Given the description of an element on the screen output the (x, y) to click on. 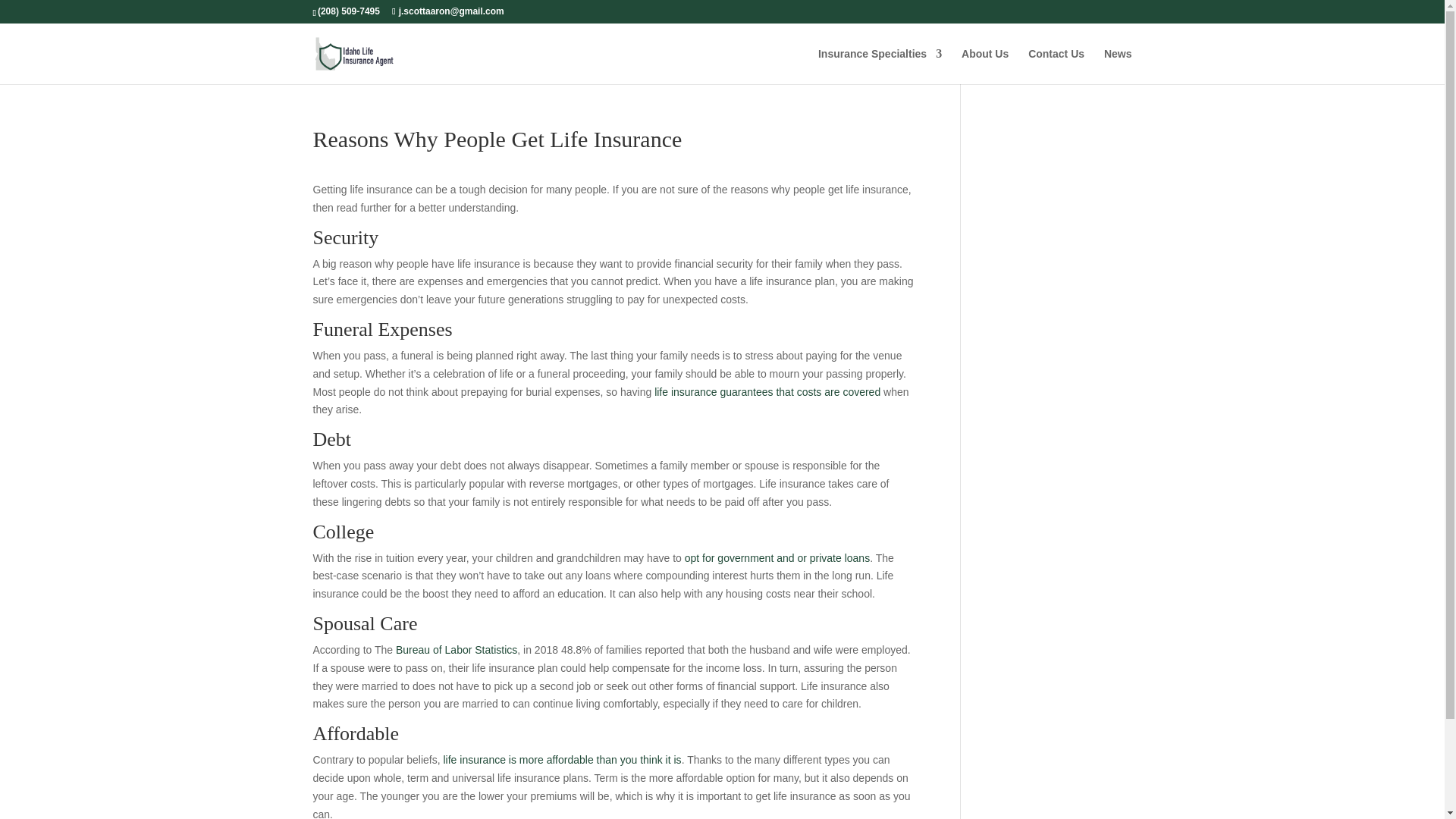
life insurance is more affordable than you think it is (561, 759)
About Us (984, 66)
life insurance guarantees that costs are covered (766, 391)
Insurance Specialties (880, 66)
opt for government and or private loans (776, 558)
Bureau of Labor Statistics (456, 649)
Contact Us (1055, 66)
